Given the description of an element on the screen output the (x, y) to click on. 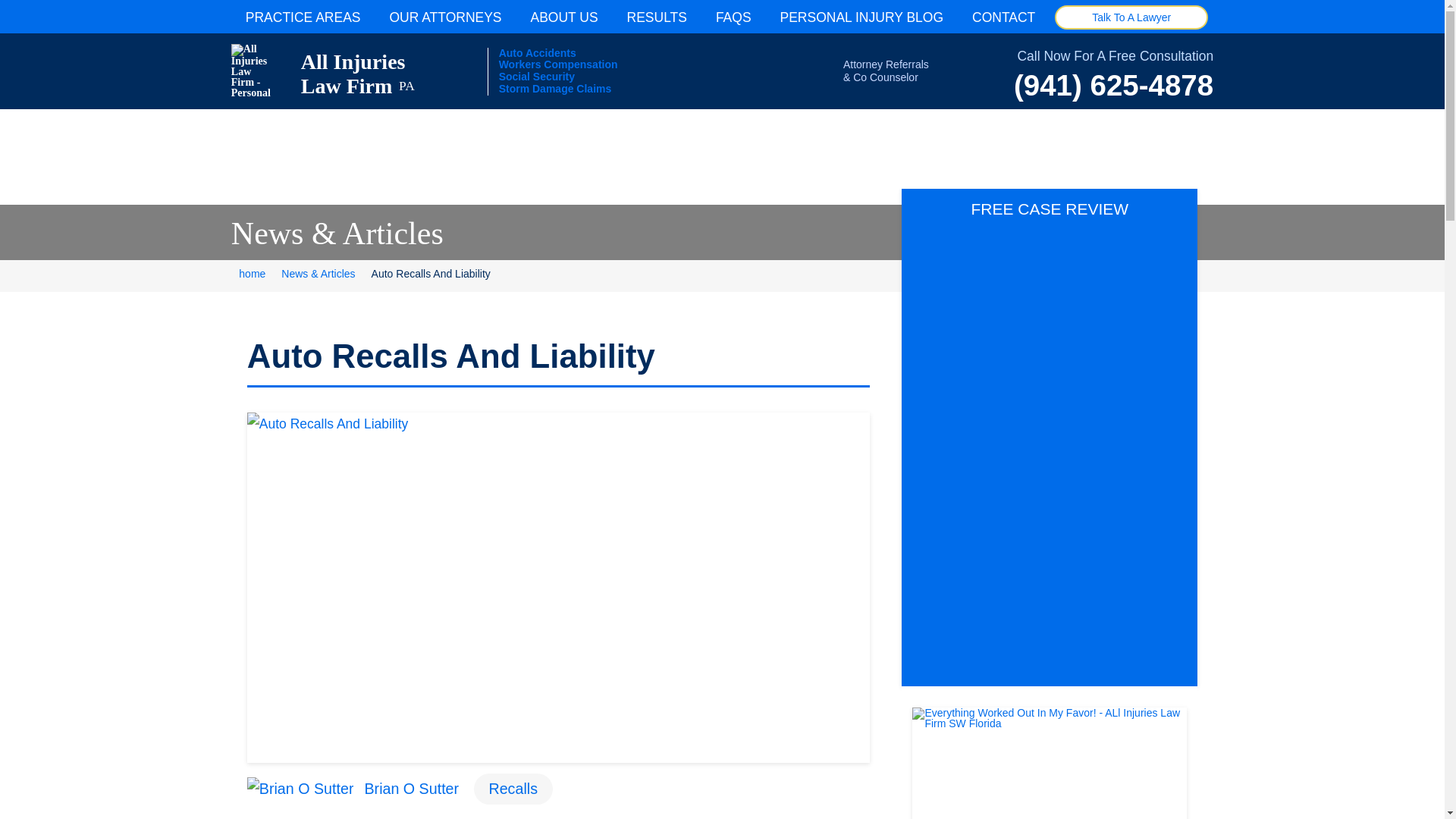
RESULTS (656, 17)
ABOUT US (564, 17)
CONTACT (1003, 17)
Talk To A Lawyer (337, 70)
PRACTICE AREAS (1131, 16)
FAQS (303, 17)
OUR ATTORNEYS (733, 17)
All Injuries Law Firm Home Page (444, 17)
Auto Recalls And Liability (337, 70)
